Given the description of an element on the screen output the (x, y) to click on. 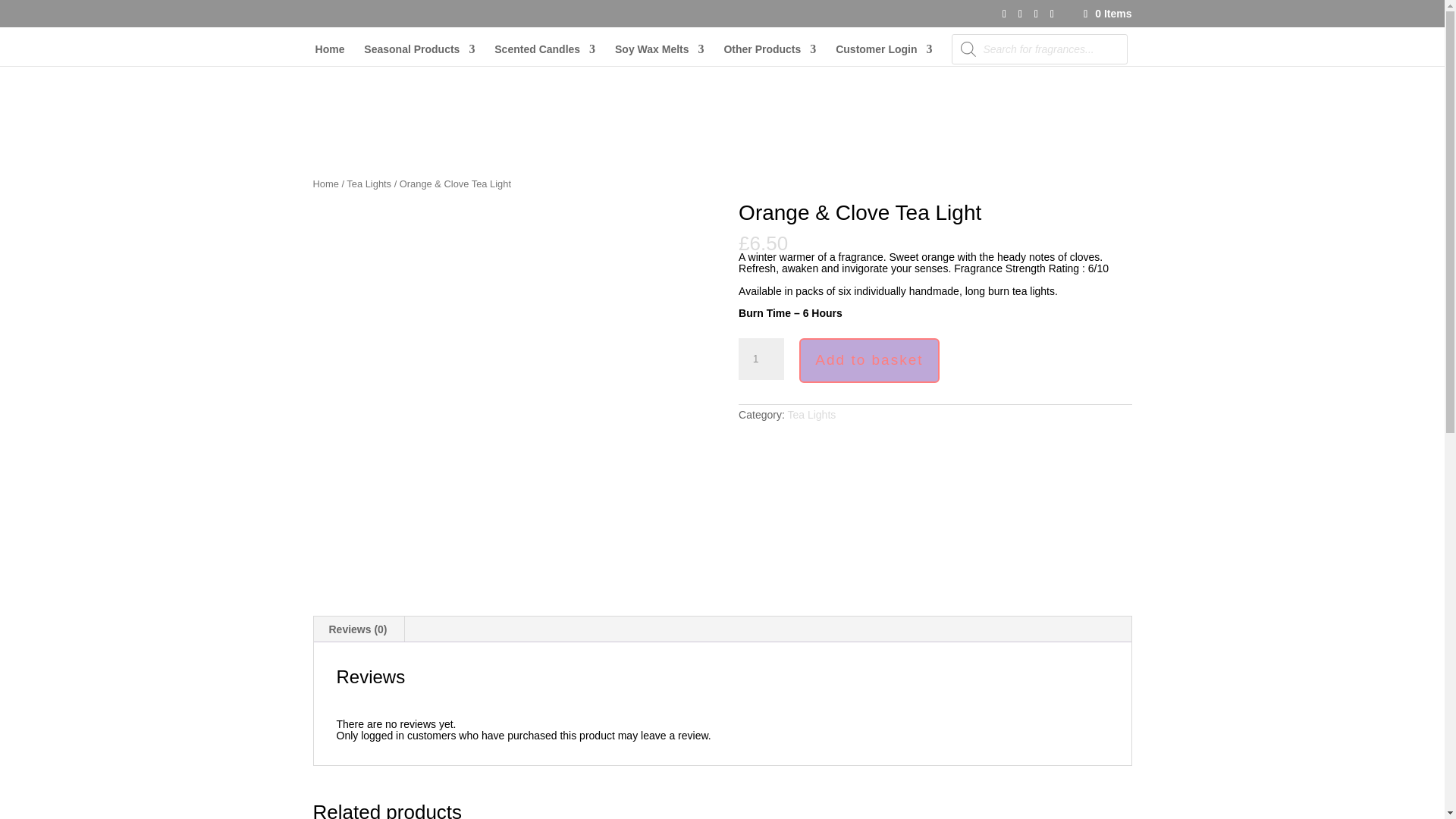
Seasonal Products (419, 55)
Home (325, 183)
1 (761, 359)
Scented Candles (545, 55)
Home (330, 55)
Add to basket (869, 361)
Soy Wax Melts (659, 55)
Customer Login (883, 55)
Tea Lights (811, 414)
Other Products (769, 55)
